Given the description of an element on the screen output the (x, y) to click on. 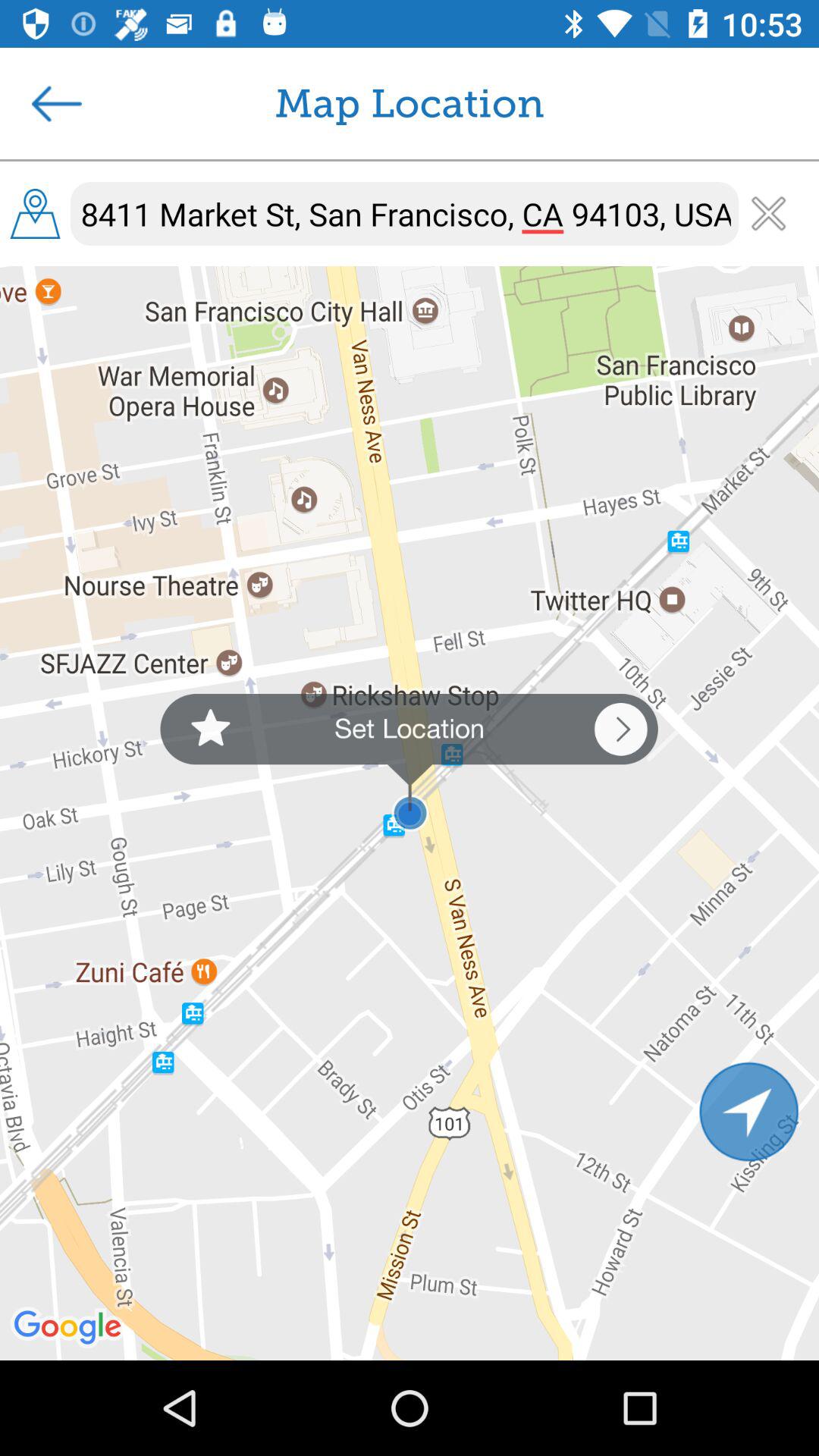
select 8411 market st item (404, 213)
